Given the description of an element on the screen output the (x, y) to click on. 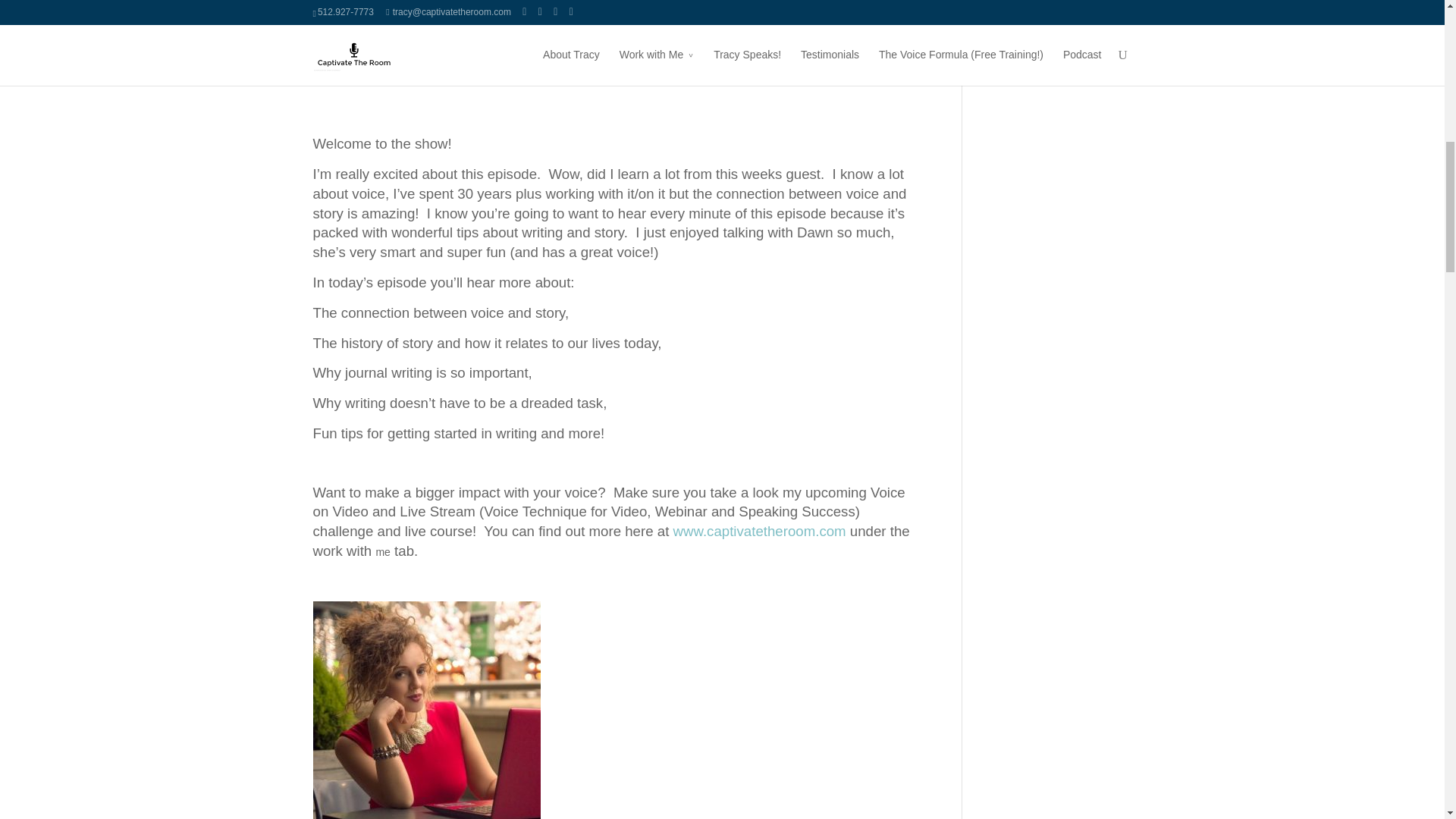
Uncategorized (483, 8)
captivate (347, 8)
www.captivatetheroom.com (758, 530)
Posts by captivate (347, 8)
